Given the description of an element on the screen output the (x, y) to click on. 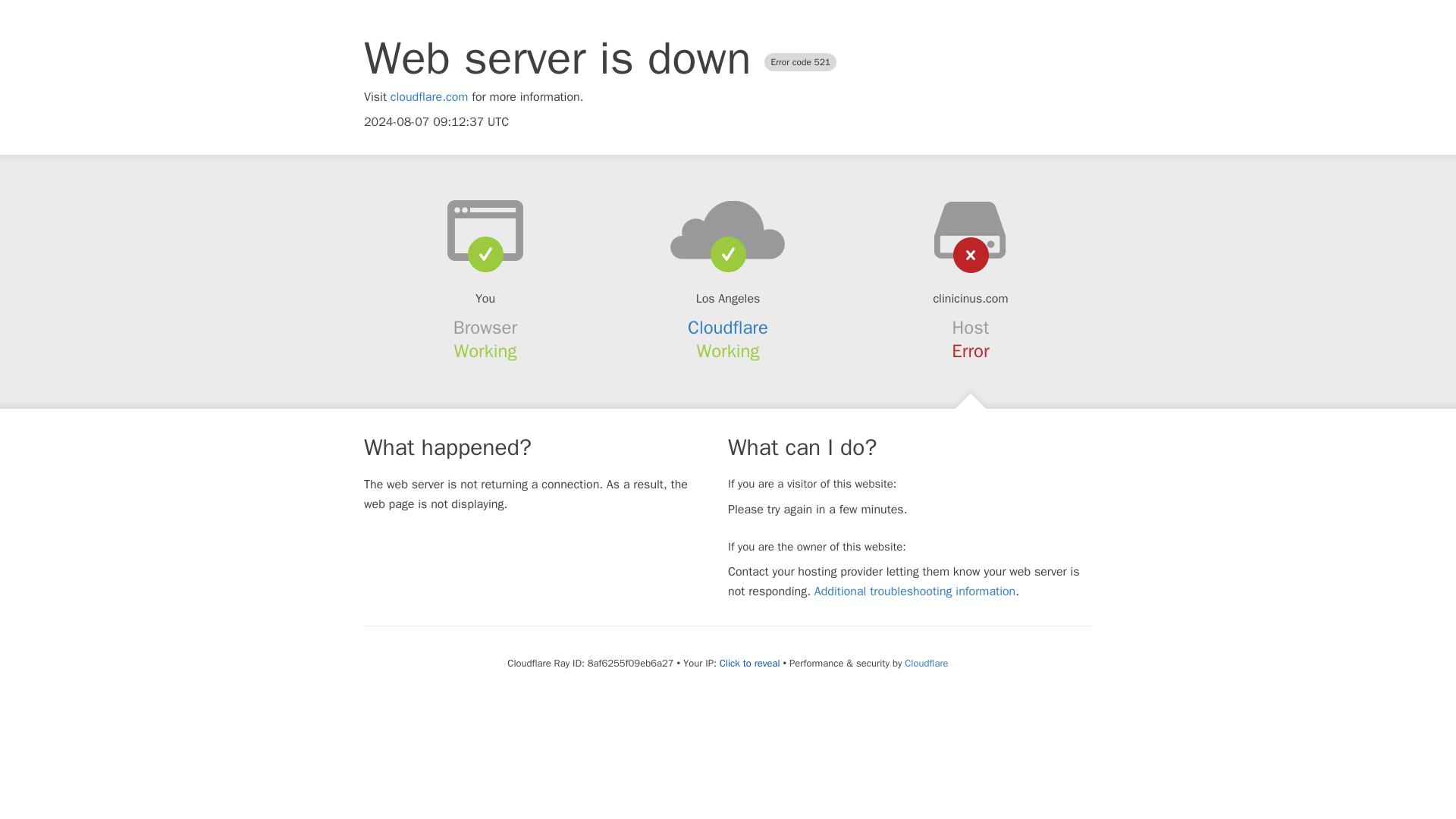
Cloudflare (925, 662)
Click to reveal (749, 663)
cloudflare.com (429, 96)
Additional troubleshooting information (913, 590)
Cloudflare (727, 327)
